Given the description of an element on the screen output the (x, y) to click on. 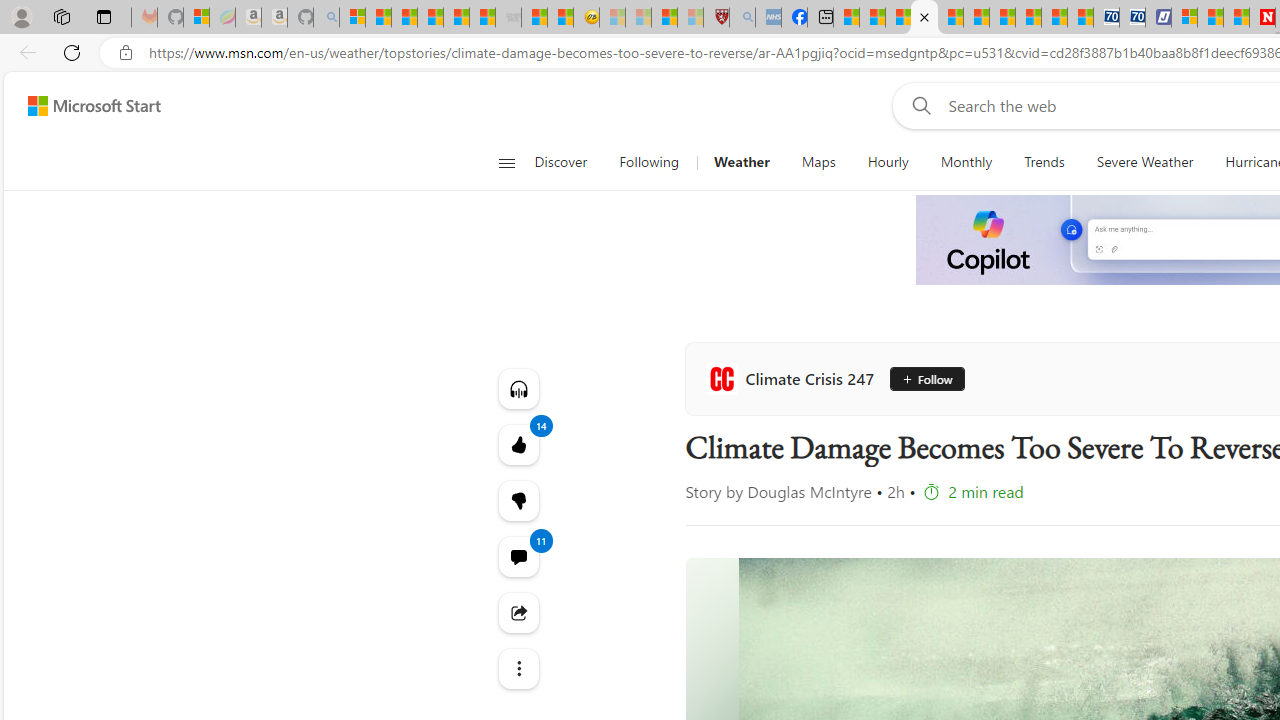
Cheap Hotels - Save70.com (1132, 17)
Maps (818, 162)
